Given the description of an element on the screen output the (x, y) to click on. 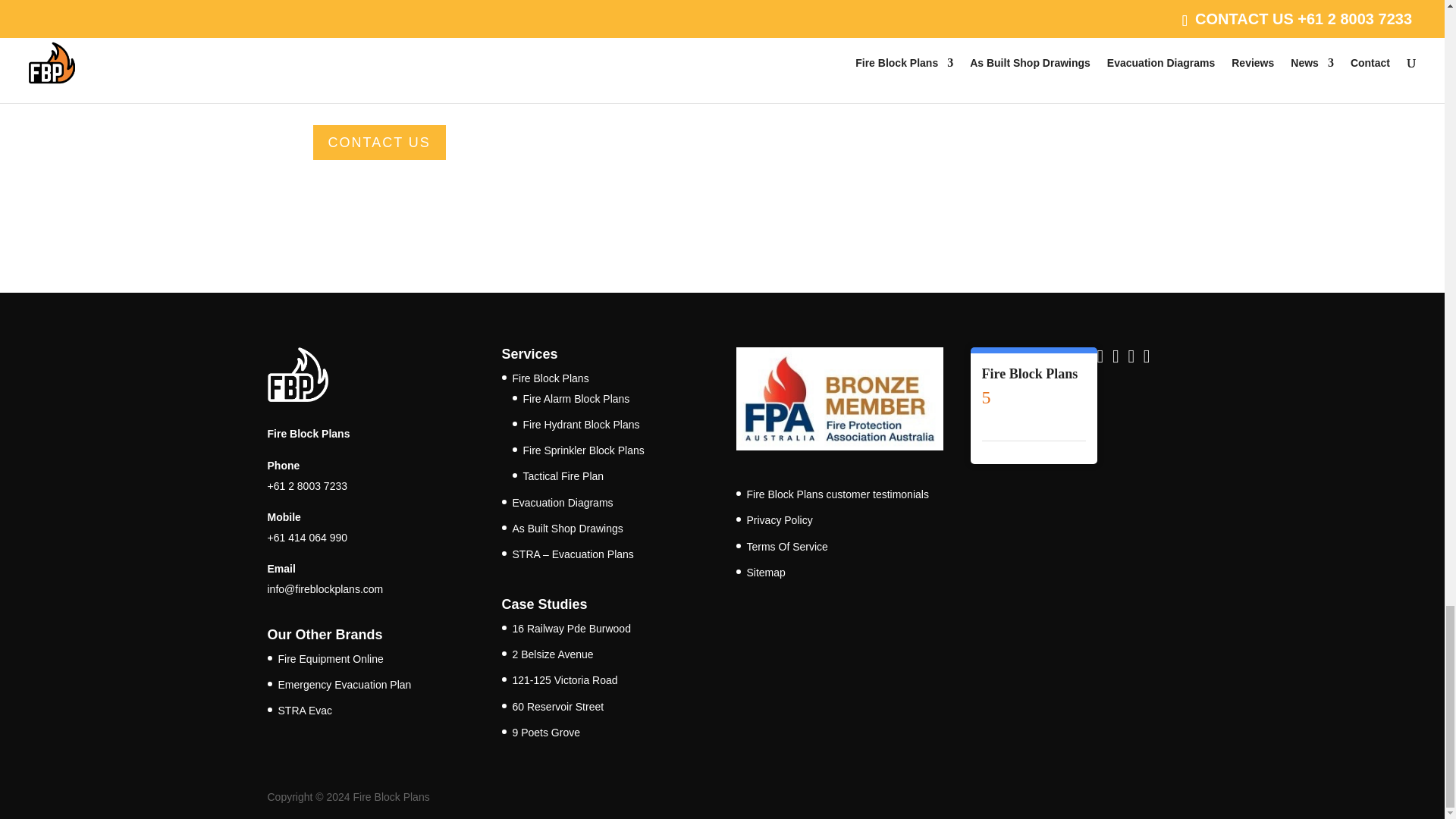
STRA Evac (304, 710)
Fire Hydrant Block Plans (581, 424)
Fire Block Plans Twitter Page (1133, 358)
Fire Block Plans LinkedIn Page (1102, 358)
Evacuation Diagrams (562, 502)
Fire Block Plans Instagram Page (1149, 358)
fire block plans logo (296, 374)
Emergency Evacuation Plan (344, 684)
Fire Block Plans (550, 378)
Fire Alarm Block Plans (576, 398)
